Given the description of an element on the screen output the (x, y) to click on. 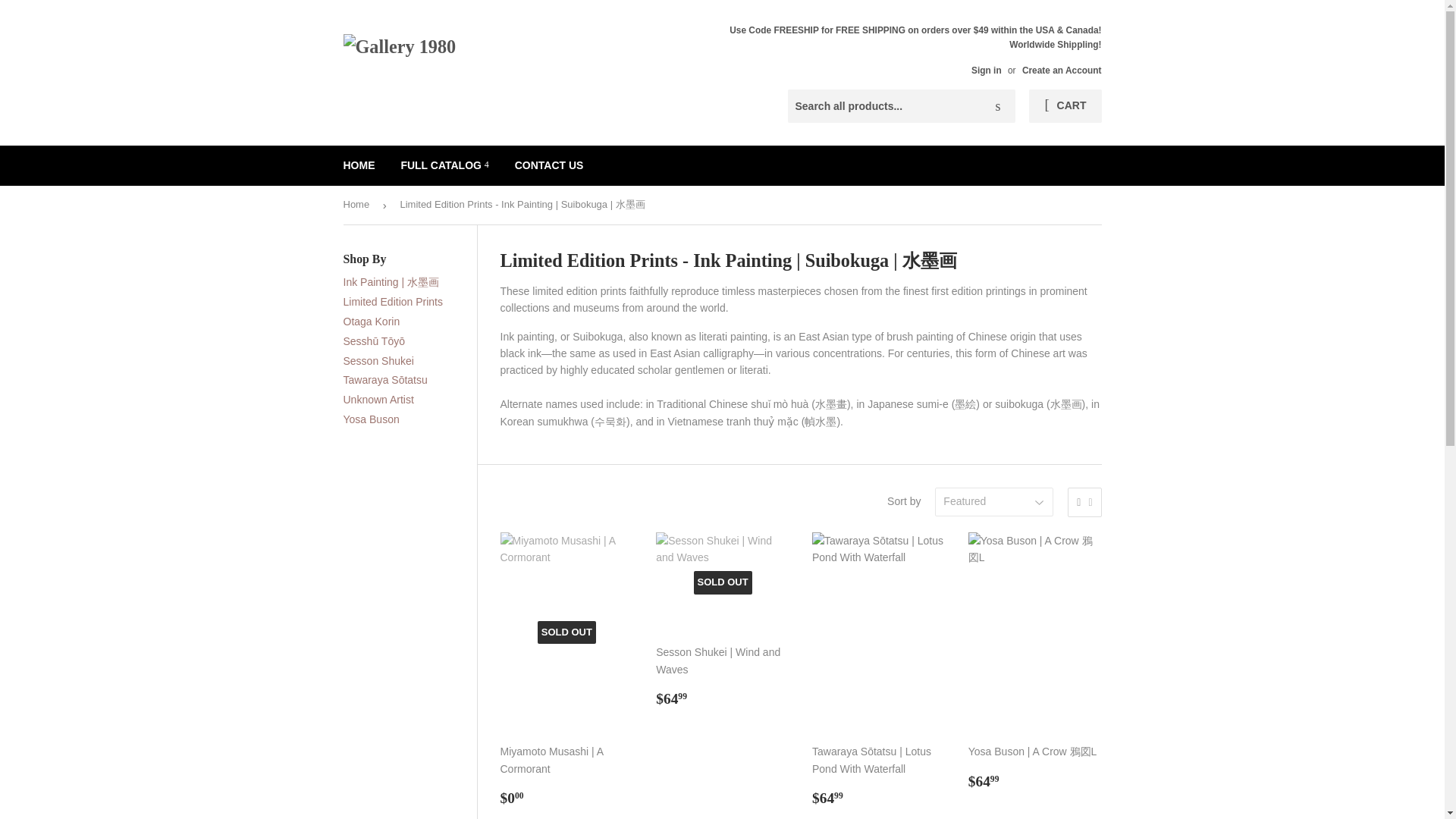
HOME (359, 165)
CART (1064, 105)
Show products matching tag Yosa Buson (370, 419)
Sign in (986, 70)
Show products matching tag Otaga Korin (370, 321)
FULL CATALOG (443, 165)
Search (997, 106)
Show products matching tag Limited Edition Prints (392, 301)
Create an Account (1062, 70)
Show products matching tag Sesson Shukei (377, 360)
Show products matching tag Unknown Artist (377, 399)
